Given the description of an element on the screen output the (x, y) to click on. 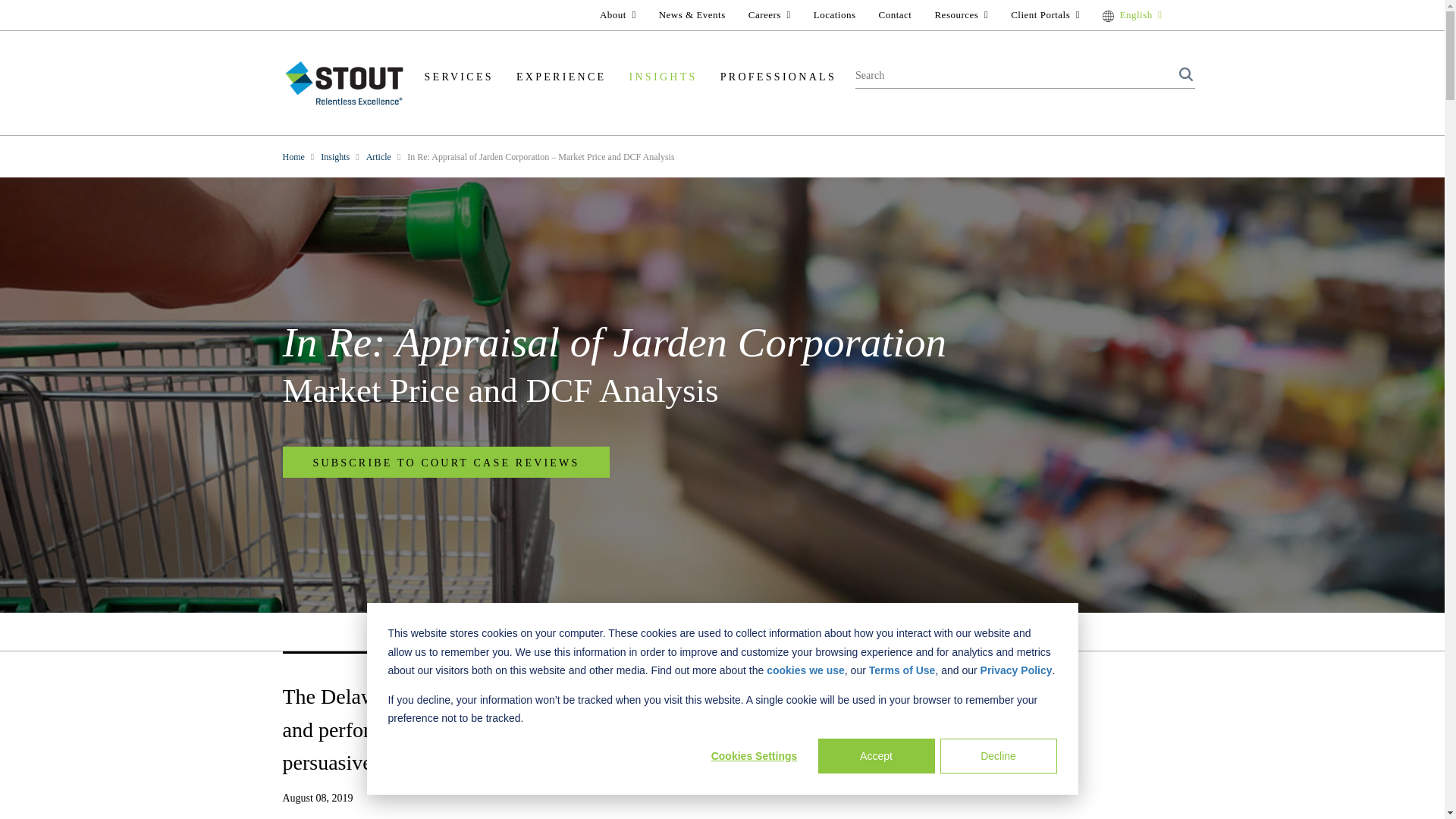
About   (617, 14)
Resources   (960, 14)
Contact (895, 14)
Locations (834, 14)
Client Portals   (1044, 14)
Locations (834, 14)
Contact (895, 14)
Careers   (769, 14)
